Given the description of an element on the screen output the (x, y) to click on. 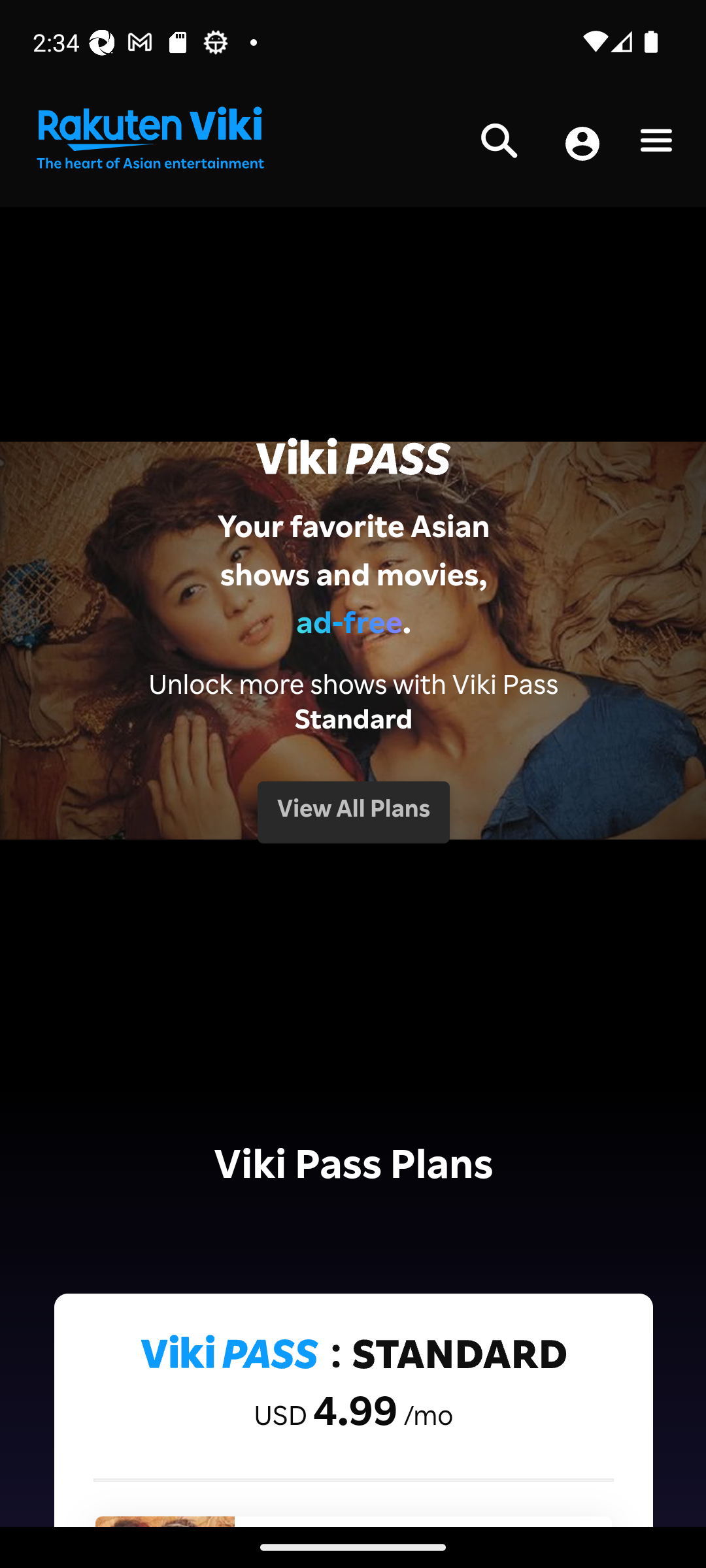
Go to homepage Rakuten Viki (149, 138)
nav.session.login (582, 144)
Settings menu (655, 143)
View All Plans (353, 812)
